Given the description of an element on the screen output the (x, y) to click on. 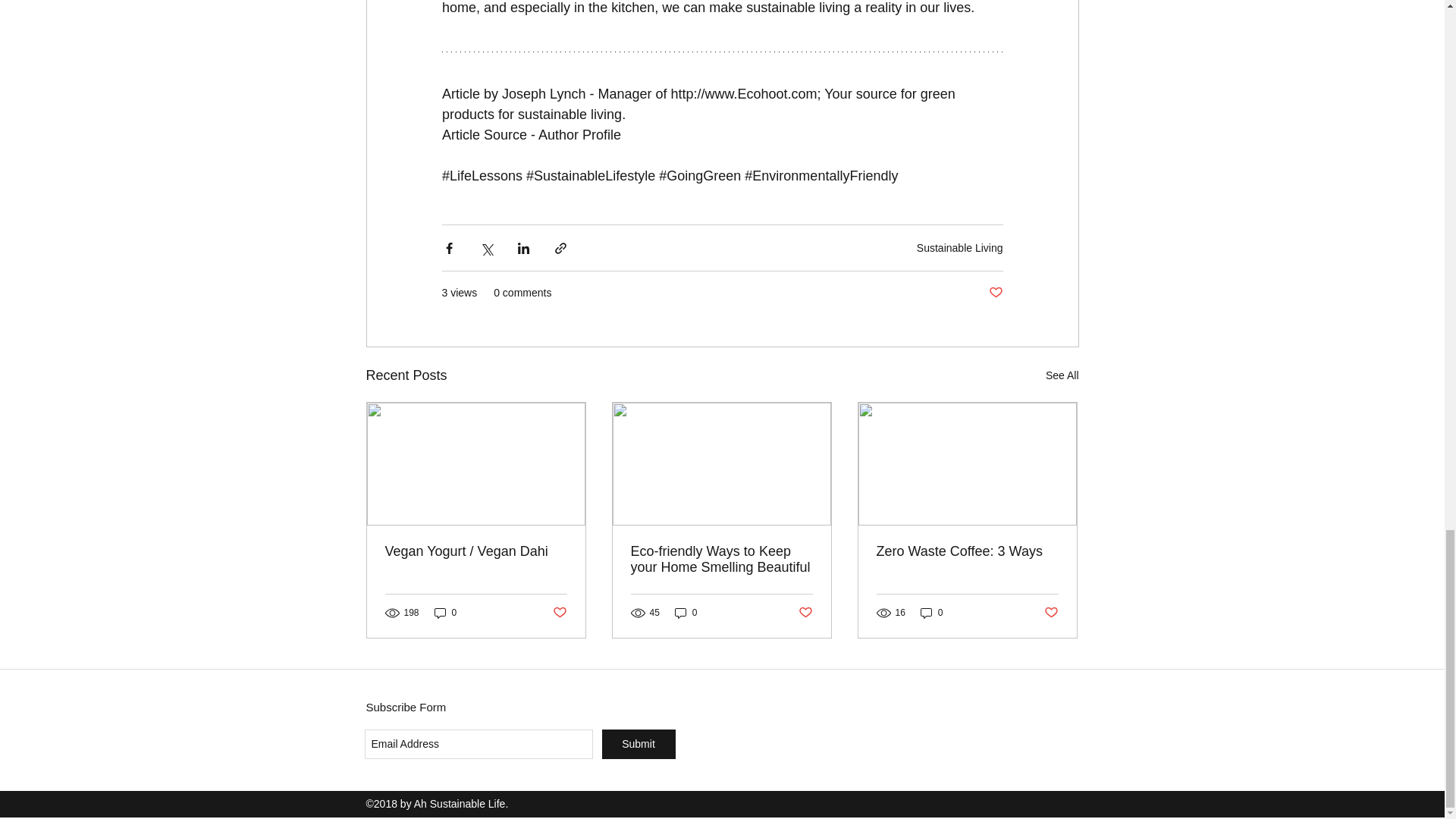
Sustainable Living (960, 247)
Article Source (483, 134)
See All (1061, 375)
Post not marked as liked (558, 612)
0 (931, 612)
Author Profile (579, 134)
0 (445, 612)
Zero Waste Coffee: 3 Ways (967, 551)
Post not marked as liked (995, 293)
Eco-friendly Ways to Keep your Home Smelling Beautiful (721, 559)
